Given the description of an element on the screen output the (x, y) to click on. 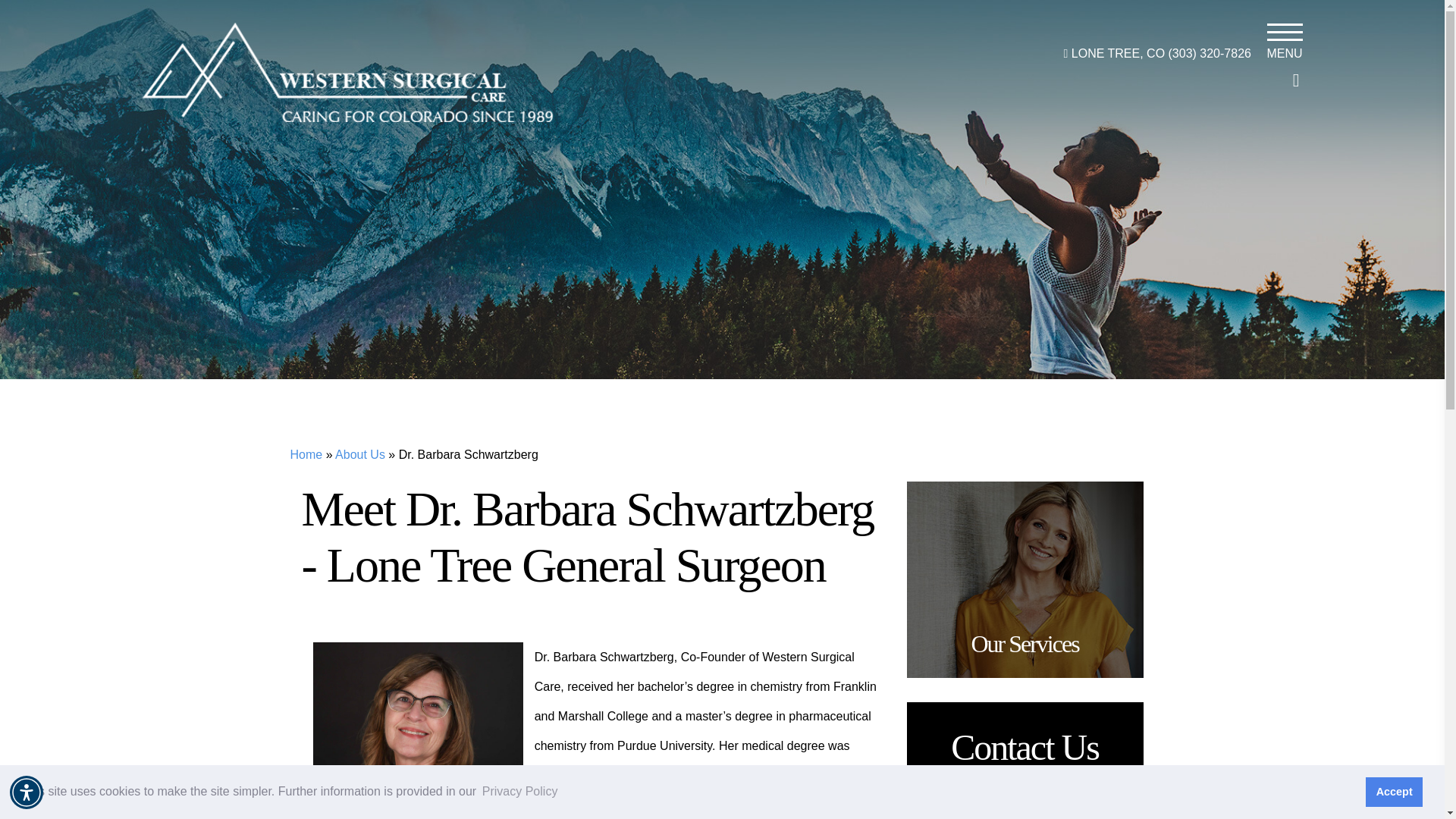
Western Surgical Care - ,  (347, 71)
Privacy Policy (520, 791)
Accept (1393, 791)
Accessibility Menu (26, 792)
Our Services (1024, 579)
About Us (359, 454)
Home (305, 454)
